Given the description of an element on the screen output the (x, y) to click on. 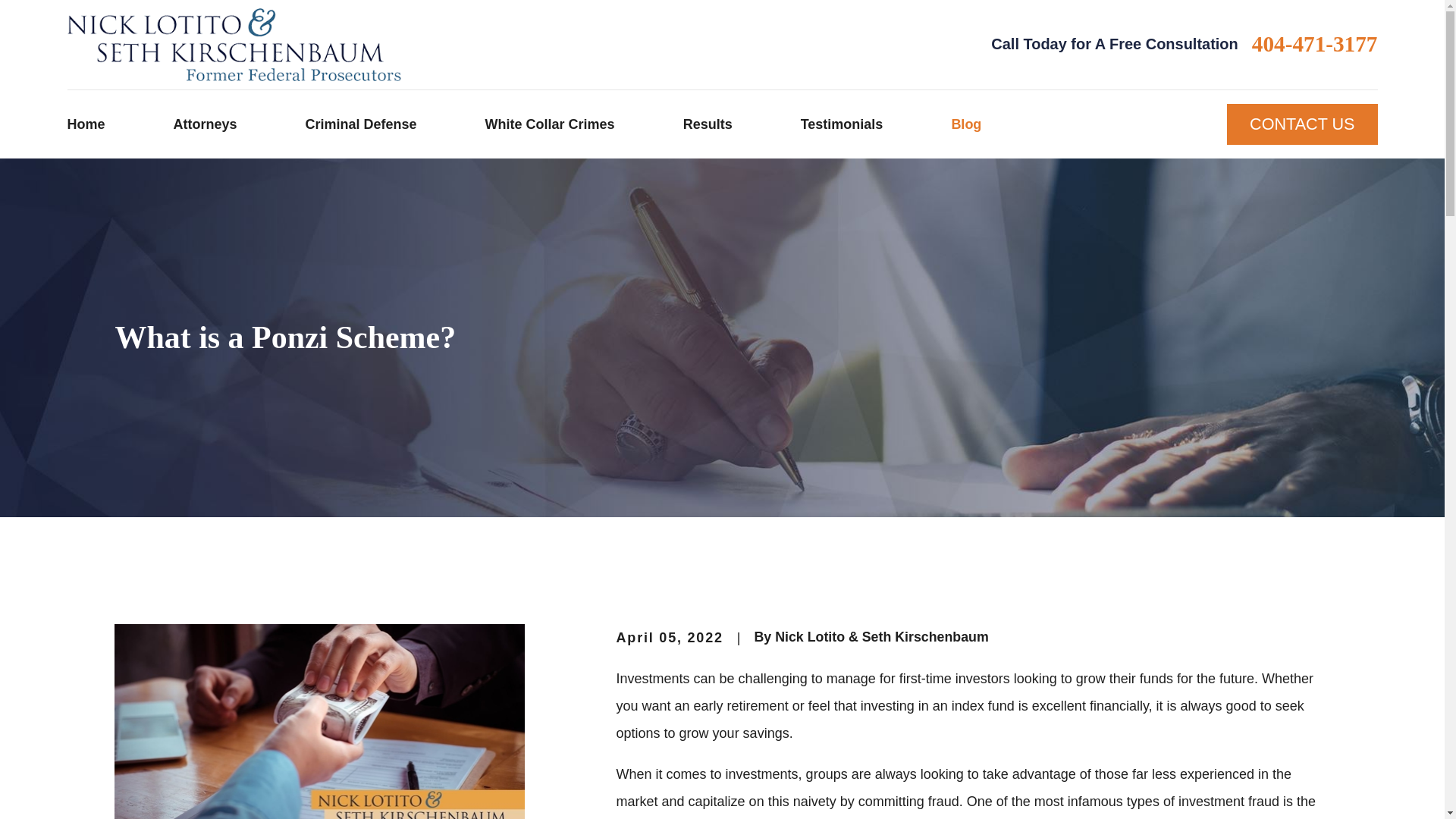
Home (233, 44)
Home (85, 124)
404-471-3177 (1314, 44)
Criminal Defense (360, 124)
Attorneys (205, 124)
White Collar Crimes (549, 124)
